Given the description of an element on the screen output the (x, y) to click on. 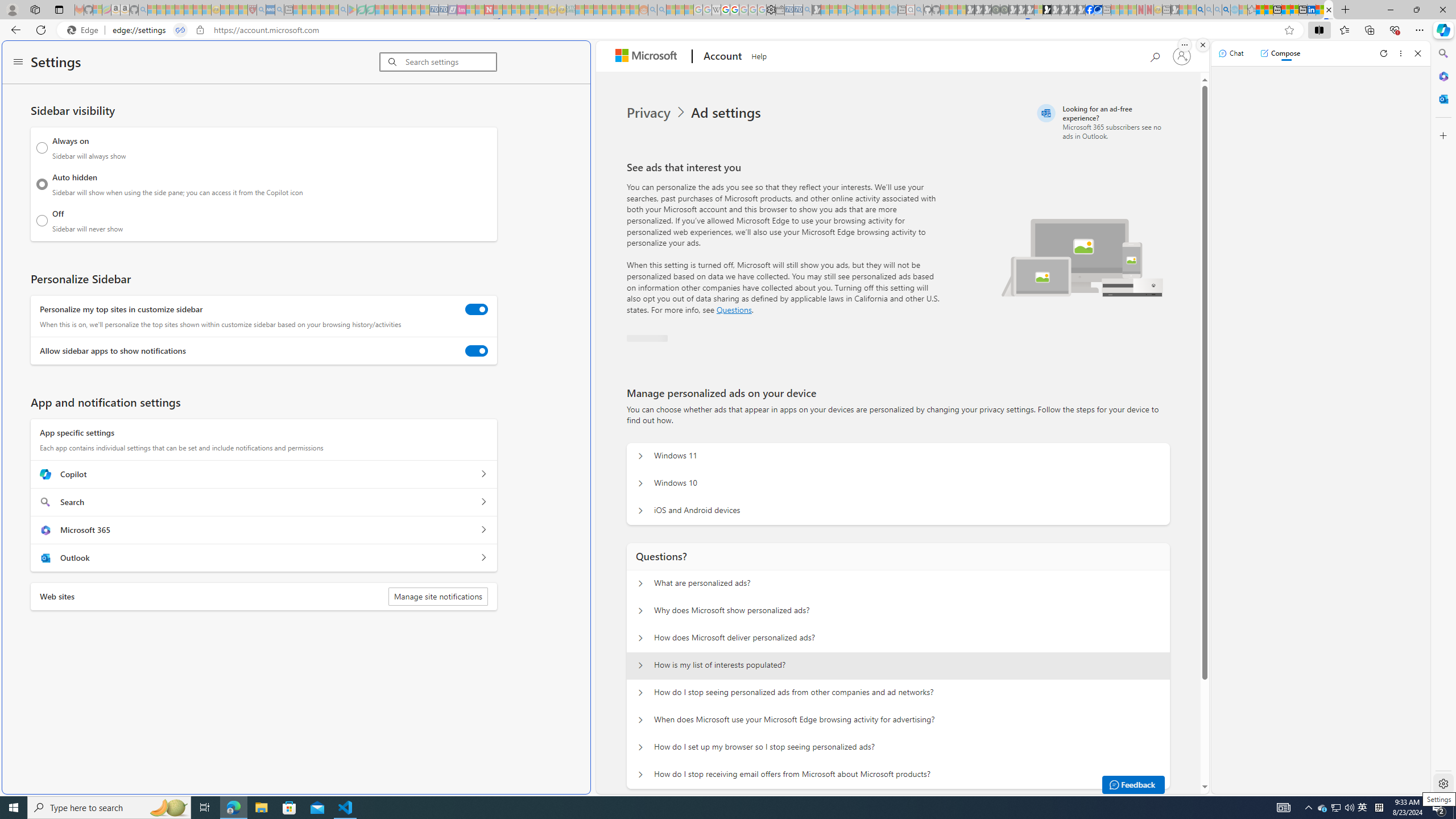
AQI & Health | AirNow.gov (1098, 9)
Off Sidebar will never show (42, 220)
Bing Real Estate - Home sales and rental listings - Sleeping (806, 9)
Ad settings (727, 112)
